Given the description of an element on the screen output the (x, y) to click on. 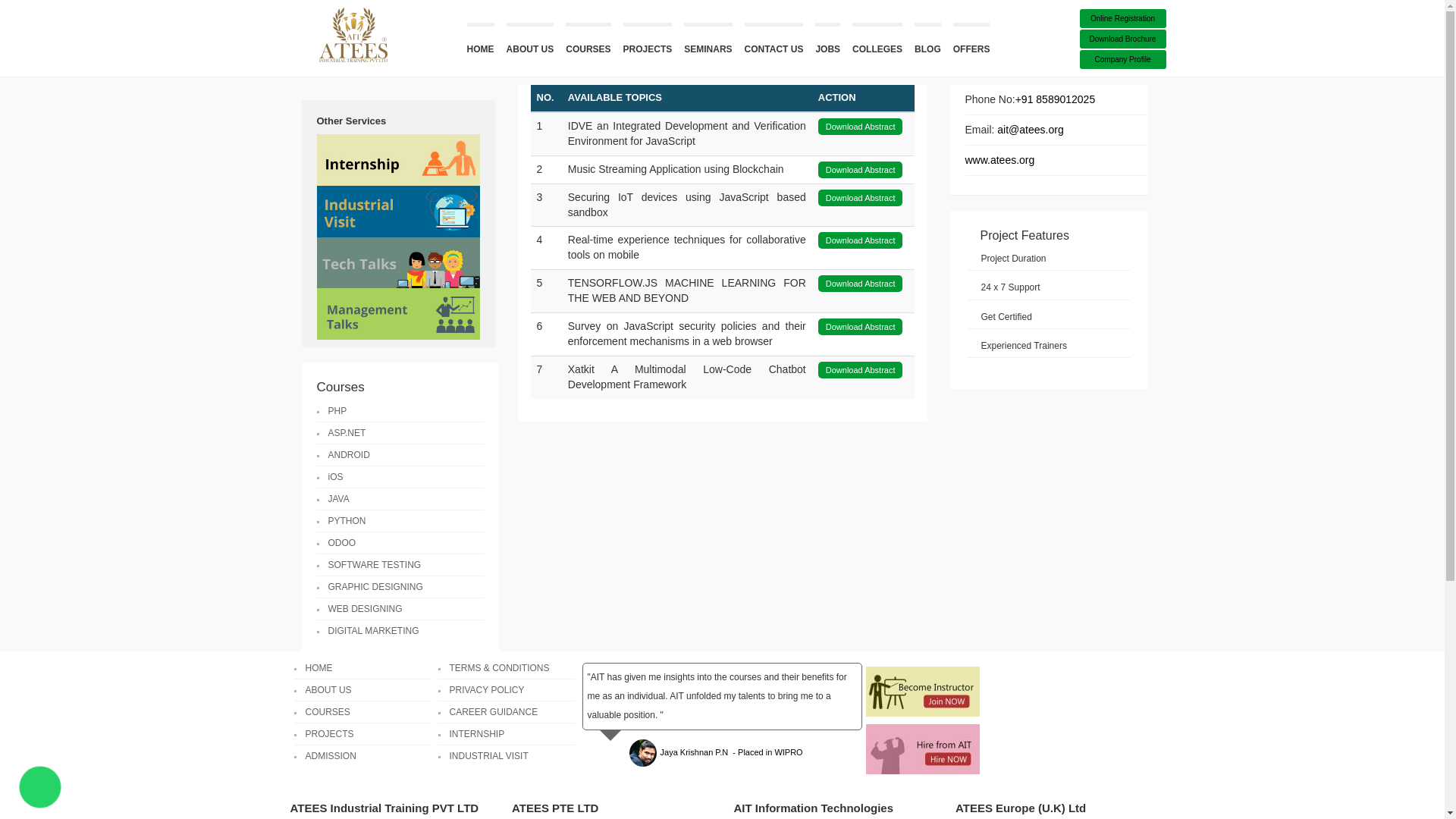
COURSES (588, 43)
PROJECTS (647, 43)
COLLEGES (876, 43)
ABOUT US (530, 43)
SEMINARS (708, 43)
Home Page (351, 34)
OFFERS (971, 43)
CONTACT US (773, 43)
